Given the description of an element on the screen output the (x, y) to click on. 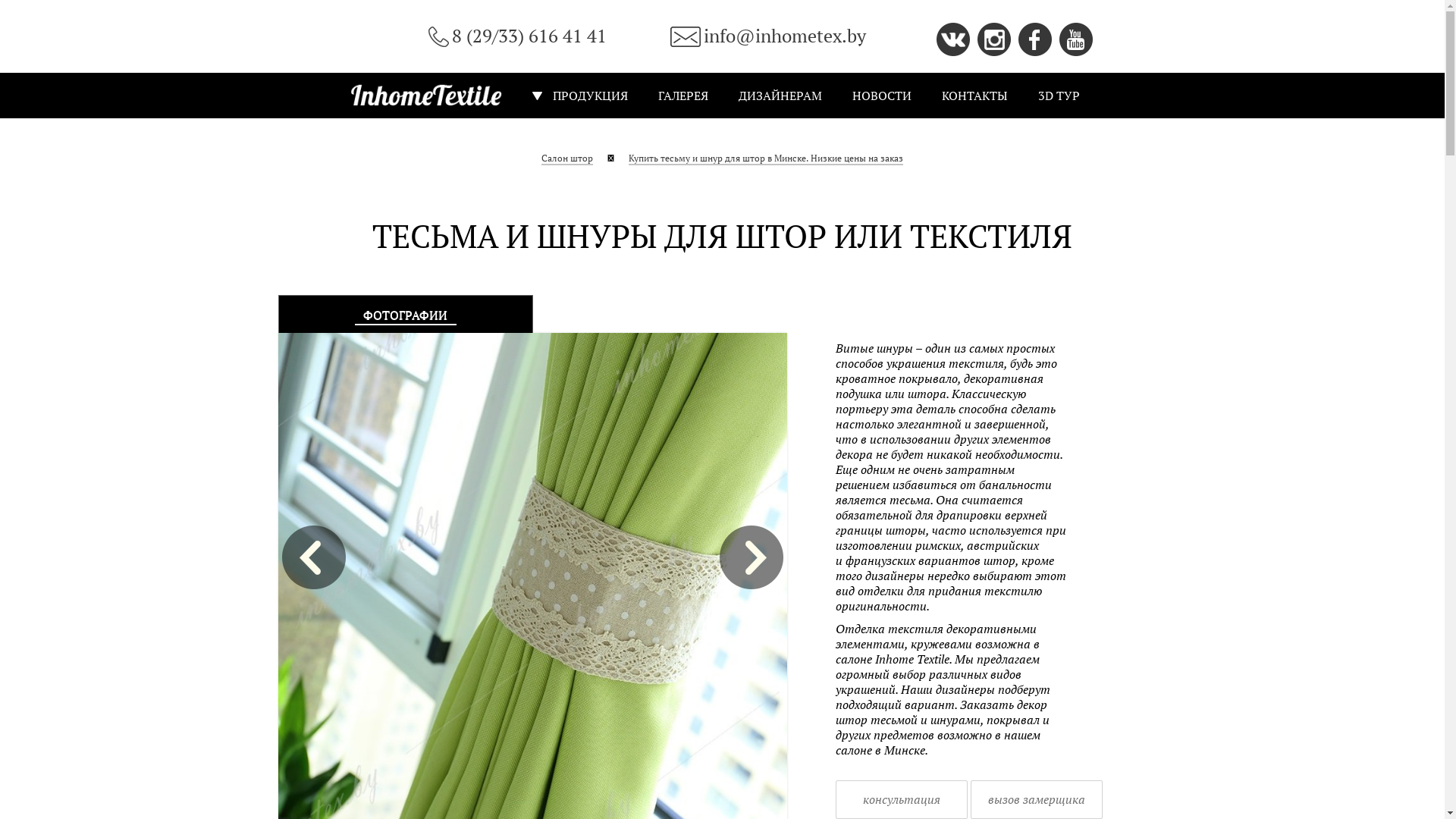
8 (29/33) 616 41 41 Element type: text (516, 36)
